Given the description of an element on the screen output the (x, y) to click on. 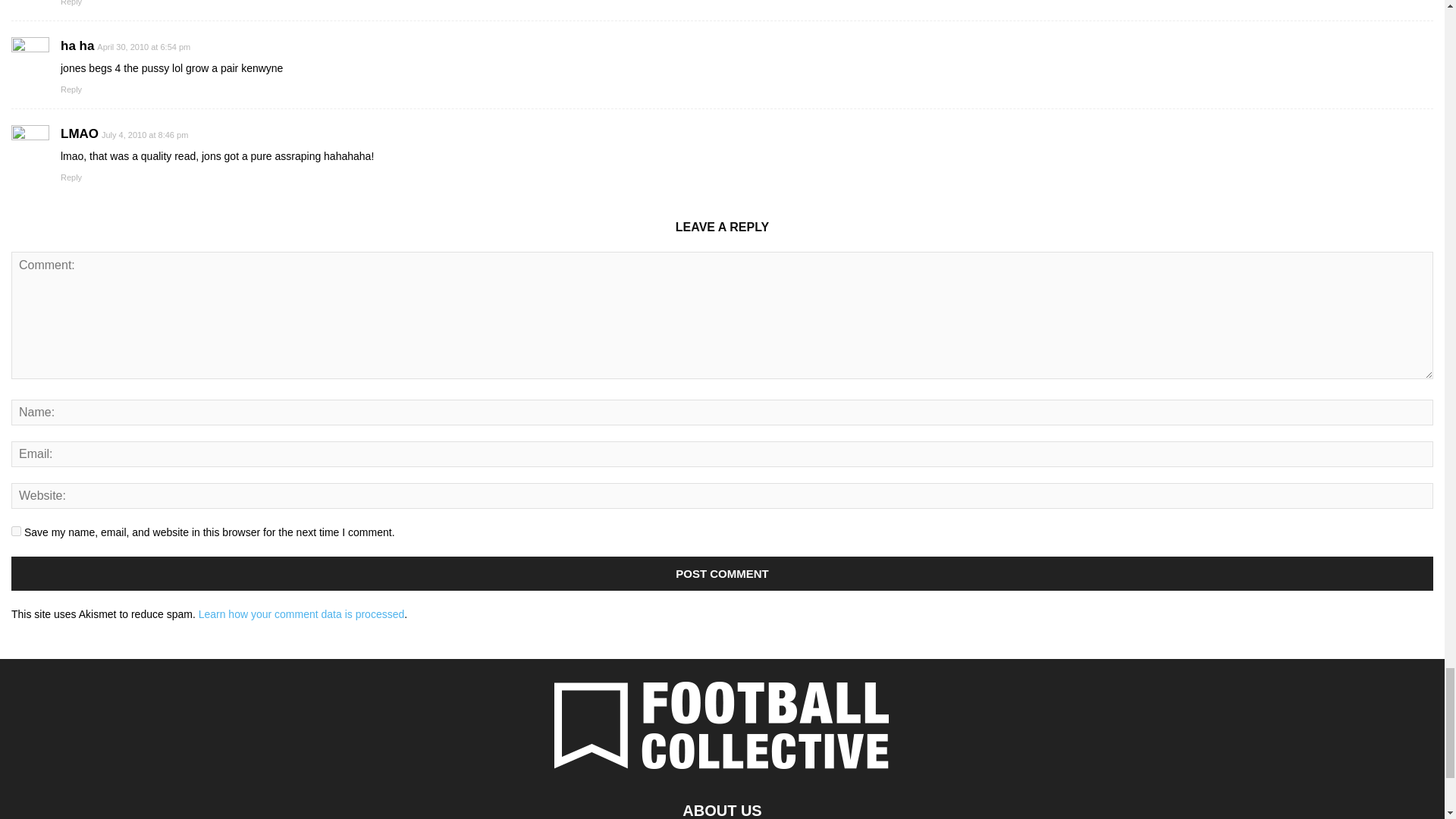
Post Comment (721, 573)
yes (16, 531)
